Given the description of an element on the screen output the (x, y) to click on. 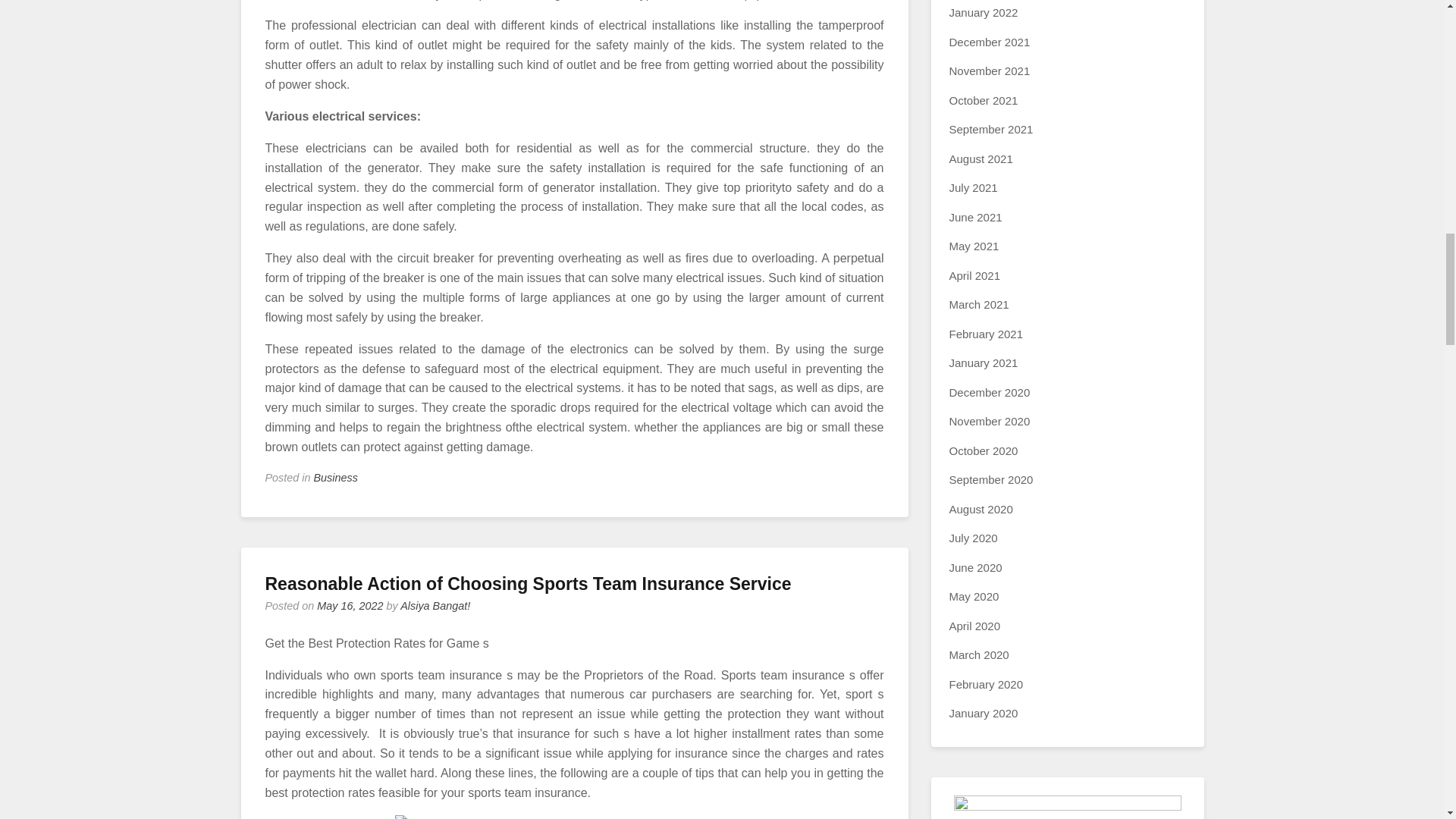
Alsiya Bangat! (435, 605)
May 16, 2022 (349, 605)
Business (336, 477)
Reasonable Action of Choosing Sports Team Insurance Service (528, 583)
